Given the description of an element on the screen output the (x, y) to click on. 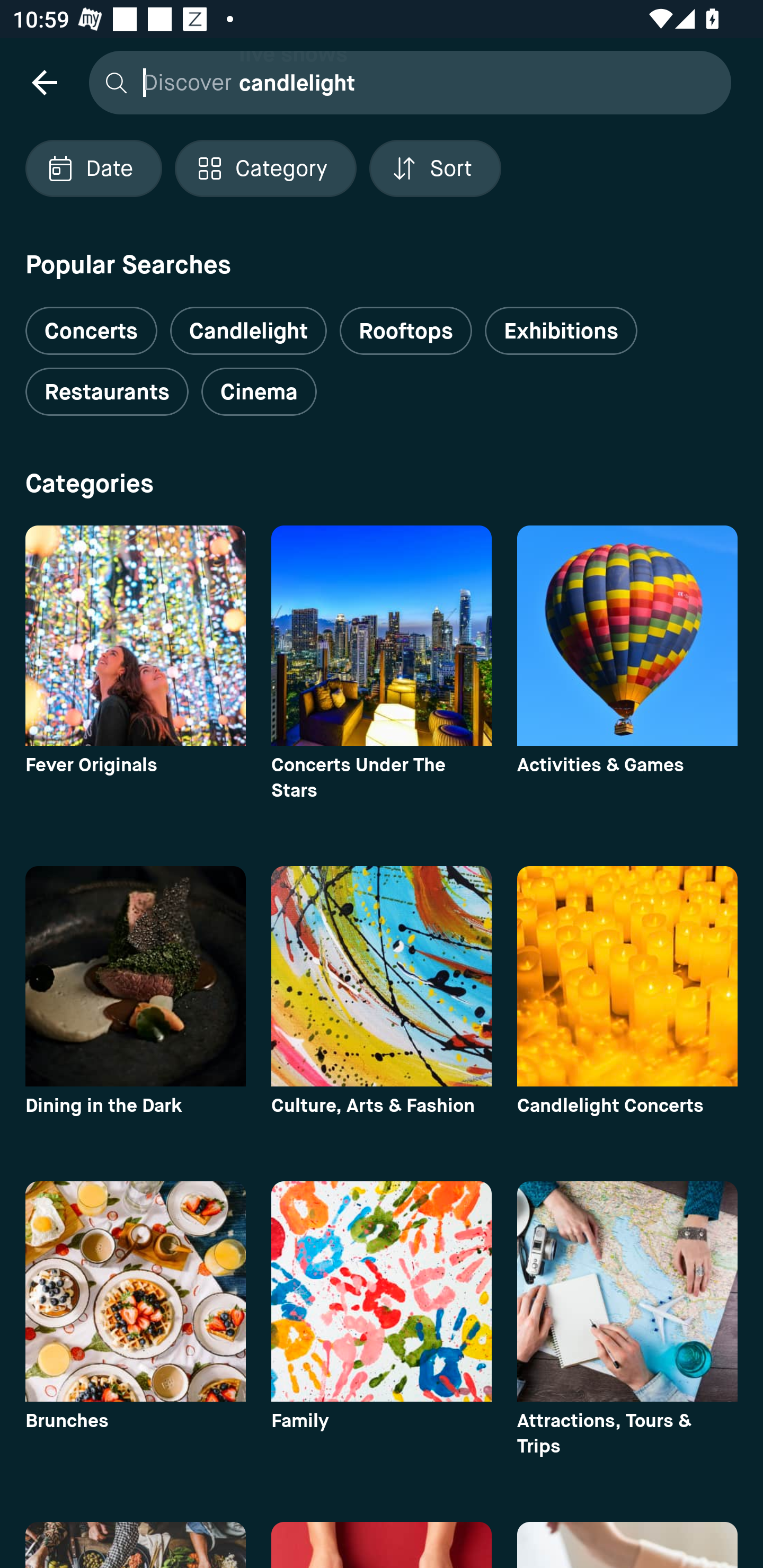
navigation icon (44, 81)
Discover live shows candlelight (405, 81)
Localized description Date (93, 168)
Localized description Category (265, 168)
Localized description Sort (435, 168)
Concerts (91, 323)
Candlelight (248, 330)
Rooftops (405, 330)
Exhibitions (560, 330)
Restaurants (106, 391)
Cinema (258, 391)
category image (135, 635)
category image (381, 635)
category image (627, 635)
category image (135, 975)
category image (381, 975)
category image (627, 975)
category image (135, 1290)
category image (381, 1290)
category image (627, 1290)
